Given the description of an element on the screen output the (x, y) to click on. 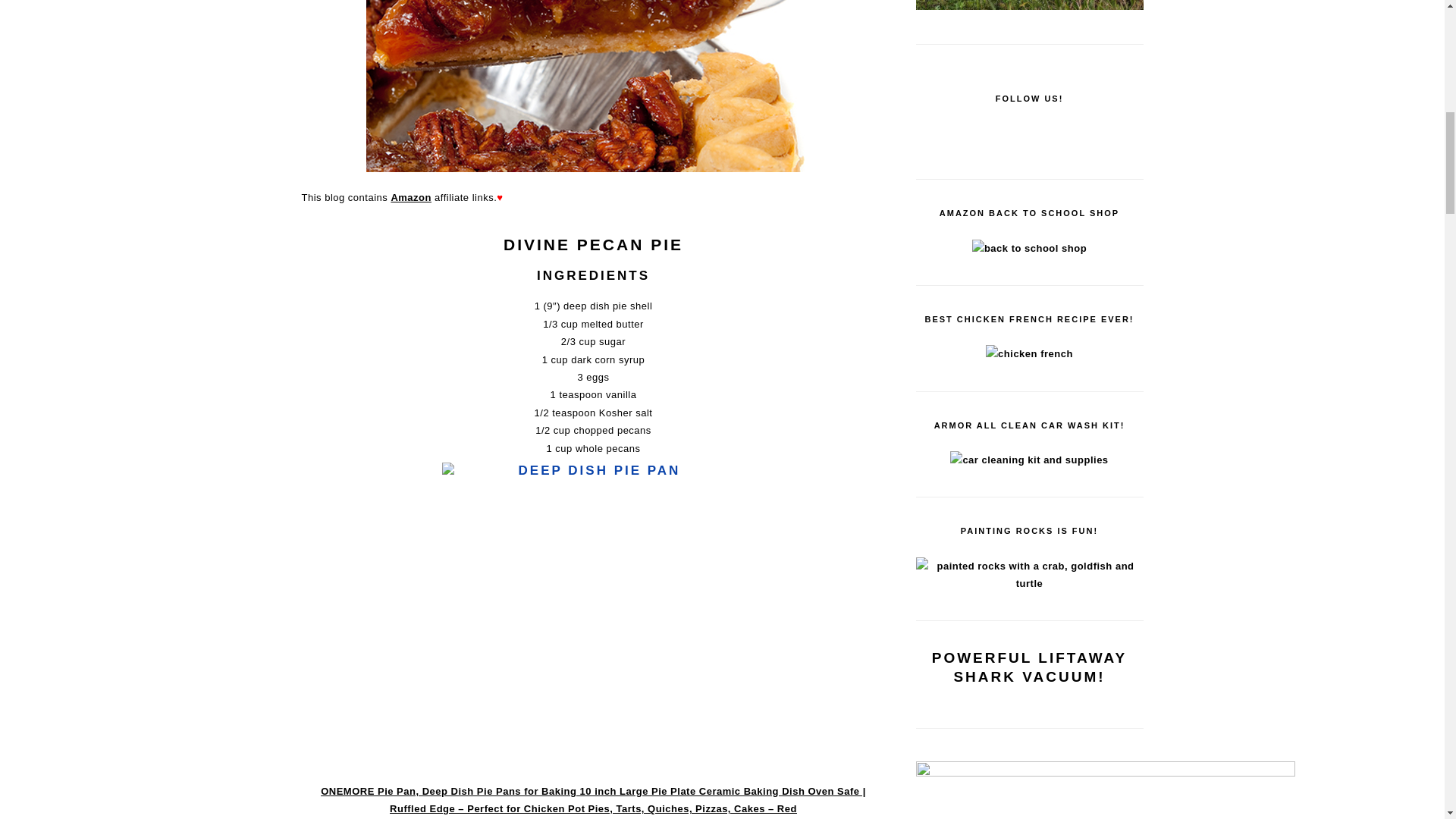
Amazon (410, 197)
BLOG HOP of the WEEK! (1028, 574)
Folding Storage and Play Table for DUPLO Blocks (1029, 248)
